Given the description of an element on the screen output the (x, y) to click on. 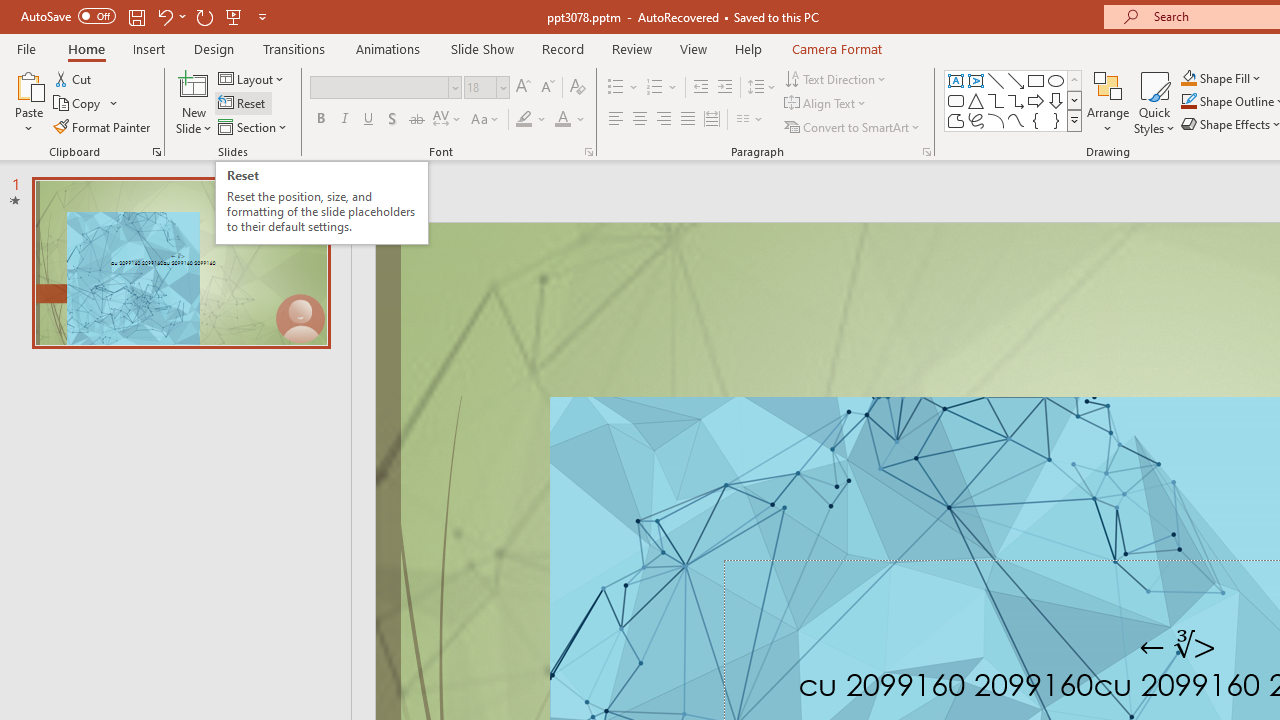
Slide (180, 262)
Rectangle (1035, 80)
Paragraph... (926, 151)
Text Direction (836, 78)
Convert to SmartArt (853, 126)
Shapes (1074, 120)
Italic (344, 119)
Cut (73, 78)
Vertical Text Box (975, 80)
Text Highlight Color Yellow (524, 119)
Shape Fill Dark Green, Accent 2 (1188, 78)
Align Text (826, 103)
Reset (243, 103)
Columns (750, 119)
